Given the description of an element on the screen output the (x, y) to click on. 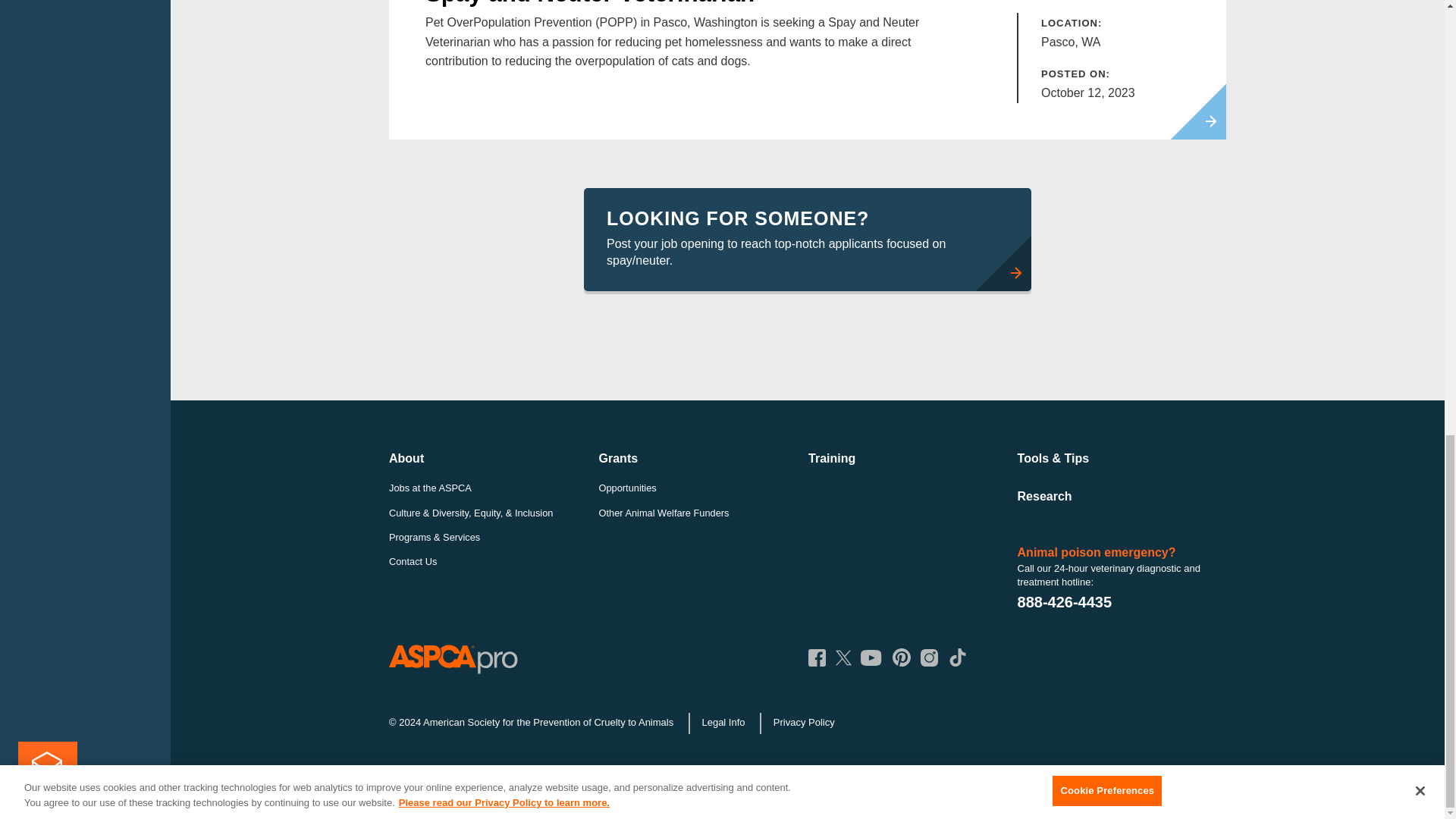
Facebook (816, 657)
Pinterest (901, 657)
Instagram (928, 657)
Twitter (843, 657)
YouTube (871, 657)
